Given the description of an element on the screen output the (x, y) to click on. 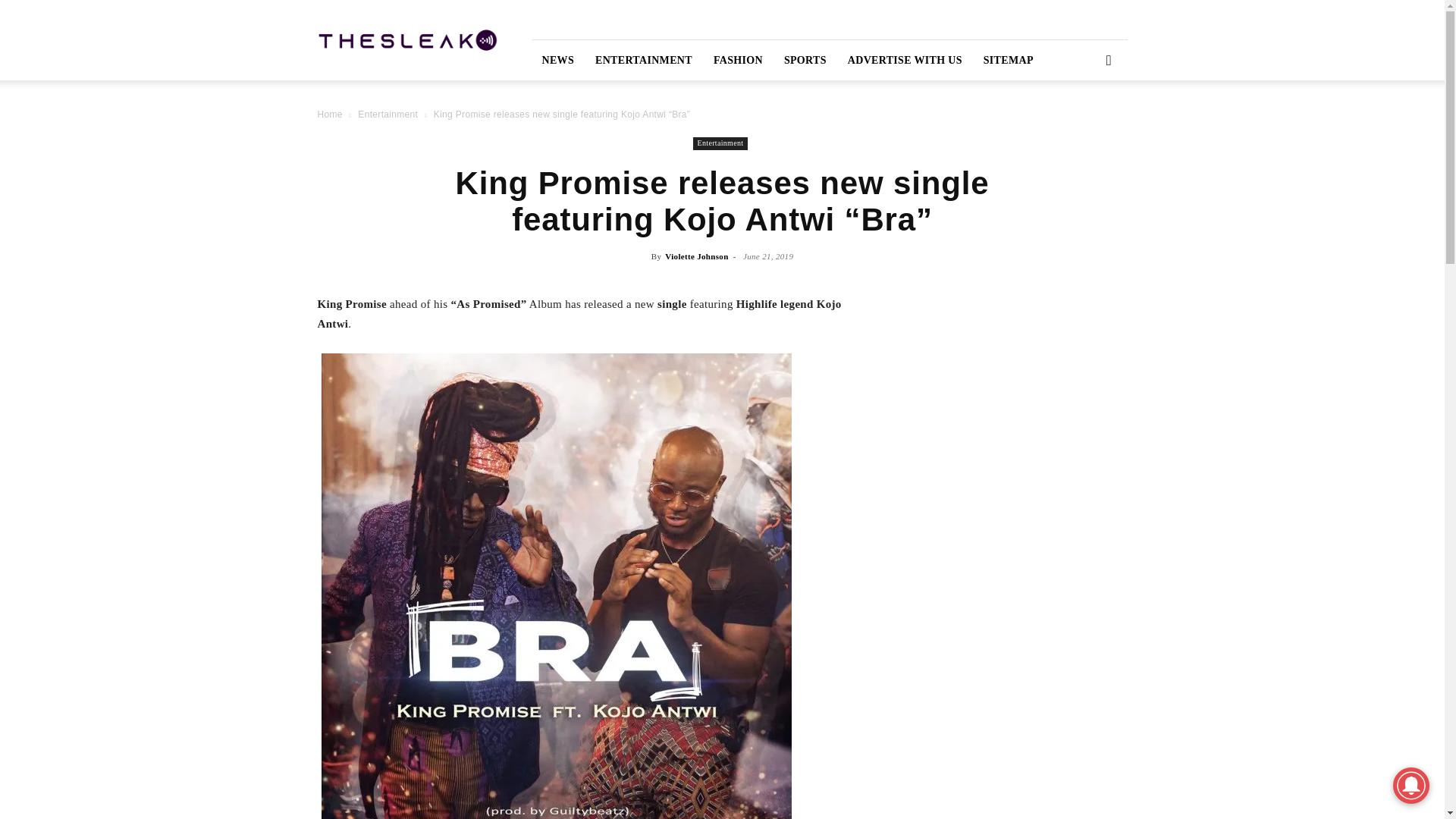
SITEMAP (1007, 60)
Violette Johnson (696, 256)
FASHION (738, 60)
Entertainment (387, 113)
ADVERTISE WITH US (904, 60)
ENTERTAINMENT (644, 60)
Entertainment (720, 143)
SPORTS (805, 60)
NEWS (558, 60)
Search (1085, 122)
View all posts in Entertainment (387, 113)
Home (329, 113)
